Given the description of an element on the screen output the (x, y) to click on. 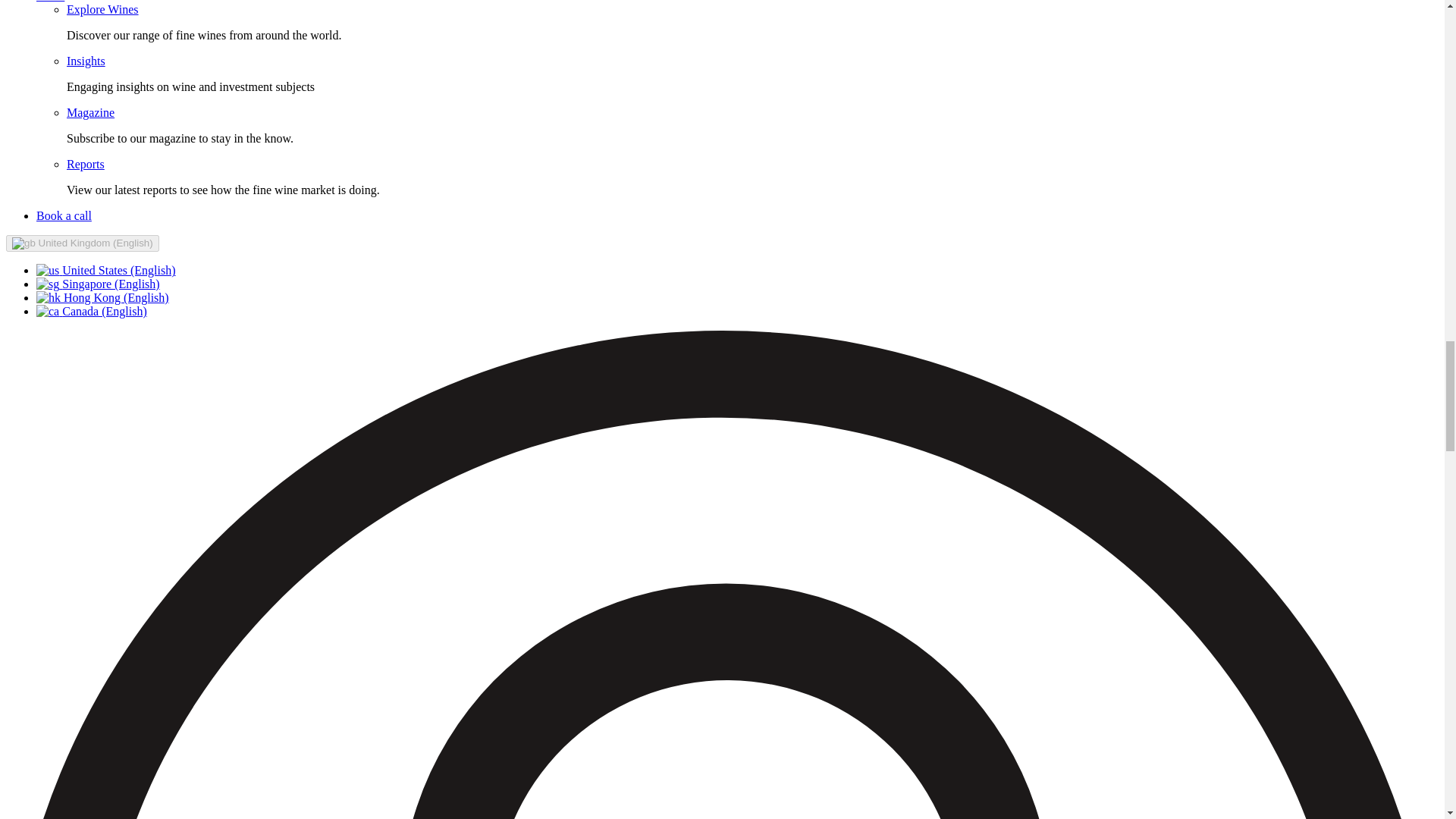
Reports (85, 164)
Explore Wines (102, 9)
Insights (85, 60)
Learn (50, 1)
Magazine (90, 112)
Book a call (63, 215)
